Given the description of an element on the screen output the (x, y) to click on. 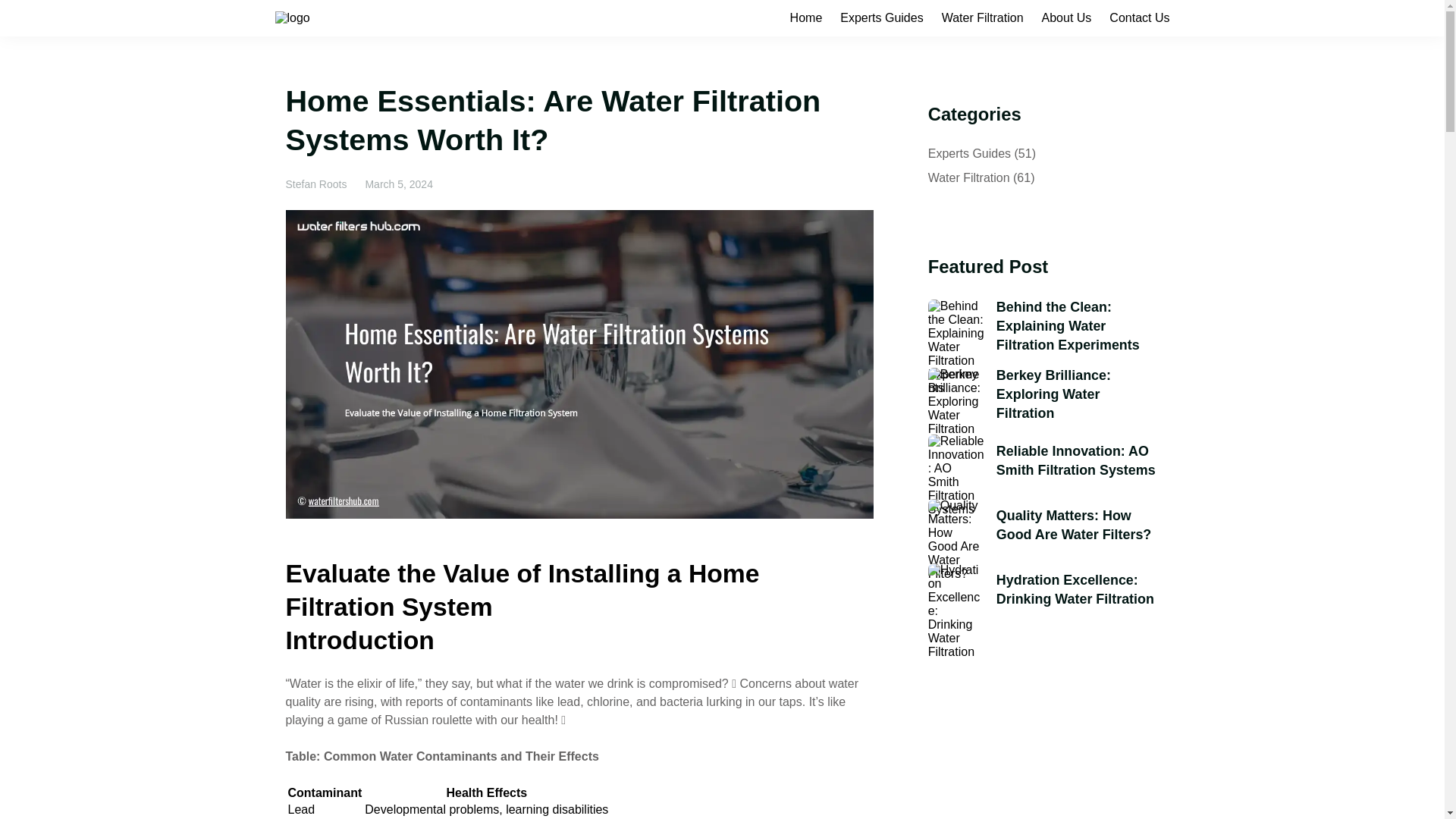
Reliable Innovation: AO Smith Filtration Systems (1076, 460)
Hydration Excellence: Drinking Water Filtration (1076, 589)
Home (806, 18)
Water Filtration (982, 18)
Experts Guides (969, 153)
About Us (1067, 18)
Water Filtration (969, 177)
Experts Guides (881, 18)
Contact Us (1139, 18)
Behind the Clean: Explaining Water Filtration Experiments (1076, 326)
Quality Matters: How Good Are Water Filters? (1076, 525)
Berkey Brilliance: Exploring Water Filtration (1076, 394)
